Given the description of an element on the screen output the (x, y) to click on. 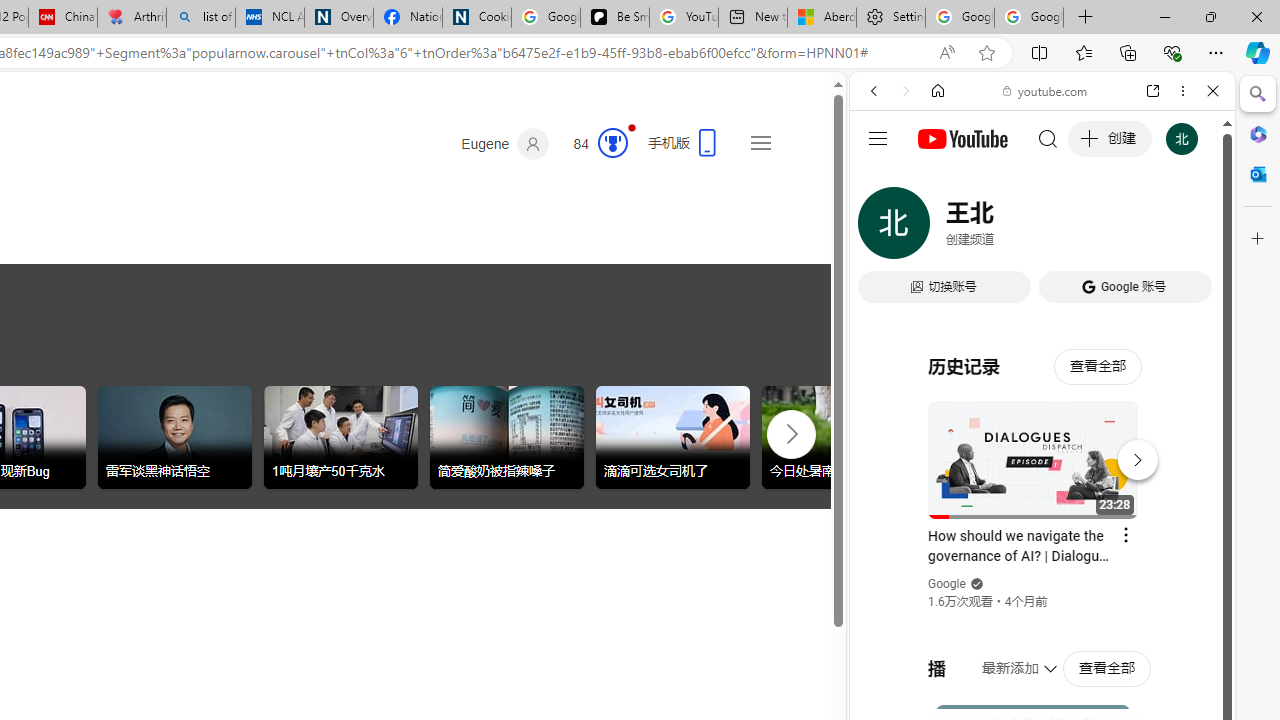
Eugene (505, 143)
YouTube (1034, 296)
Forward (906, 91)
Show More Music (1164, 546)
Global web icon (888, 288)
Microsoft Rewards 84 (594, 143)
Search Filter, Search Tools (1093, 228)
Be Smart | creating Science videos | Patreon (614, 17)
